Given the description of an element on the screen output the (x, y) to click on. 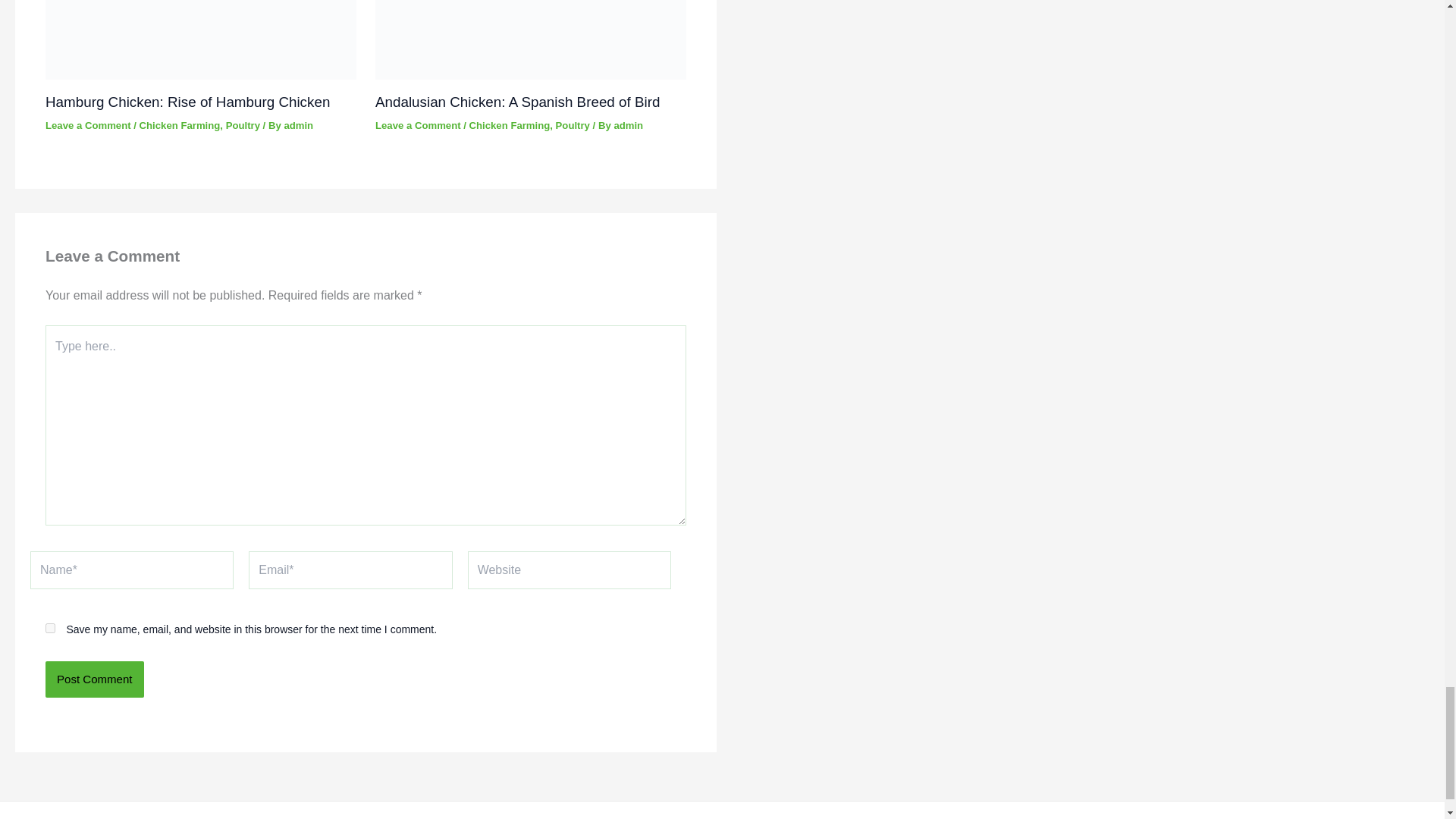
View all posts by admin (627, 125)
Post Comment (94, 678)
yes (50, 628)
View all posts by admin (298, 125)
